Given the description of an element on the screen output the (x, y) to click on. 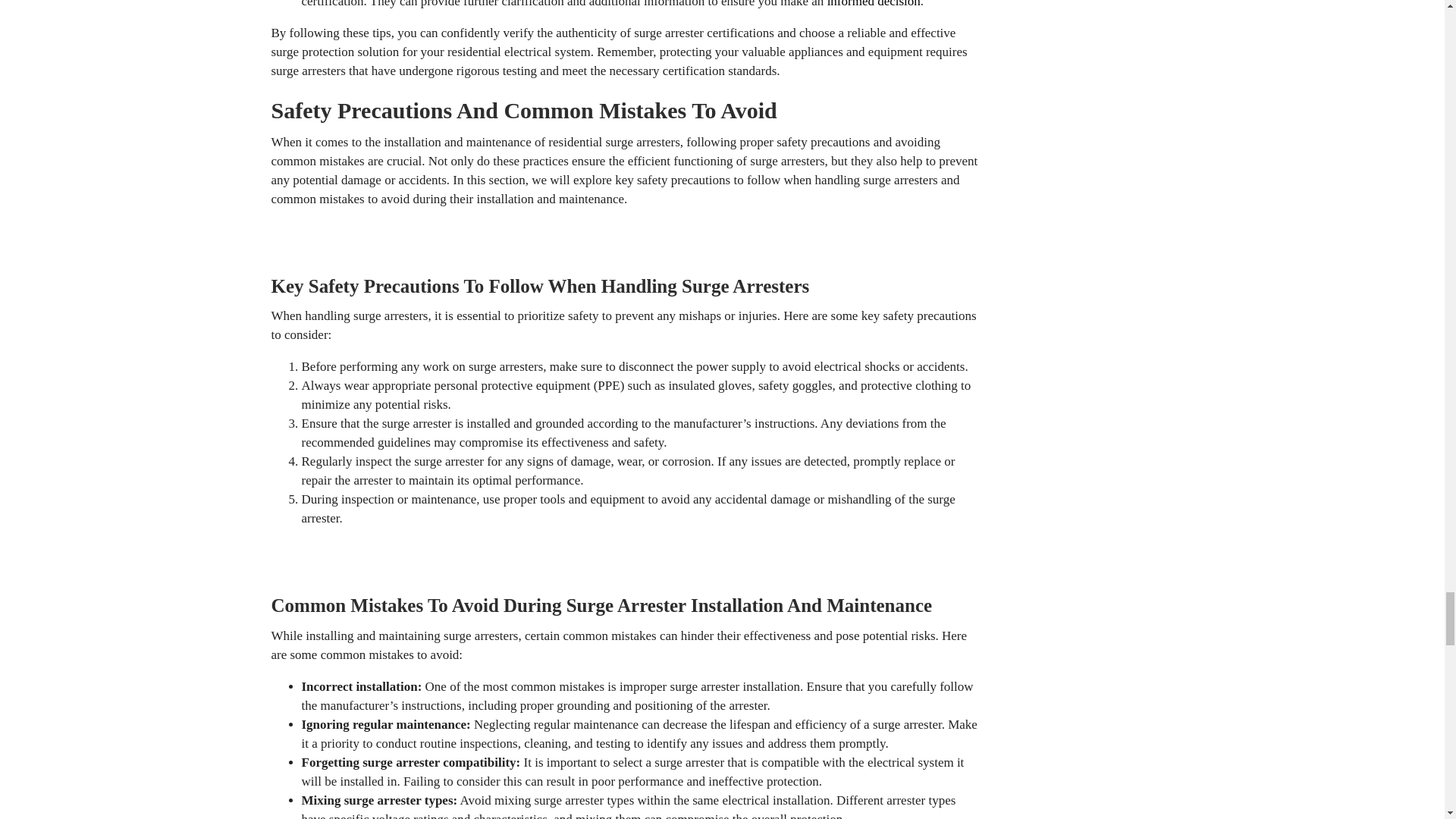
informed decision (873, 4)
informed decision (873, 4)
